Given the description of an element on the screen output the (x, y) to click on. 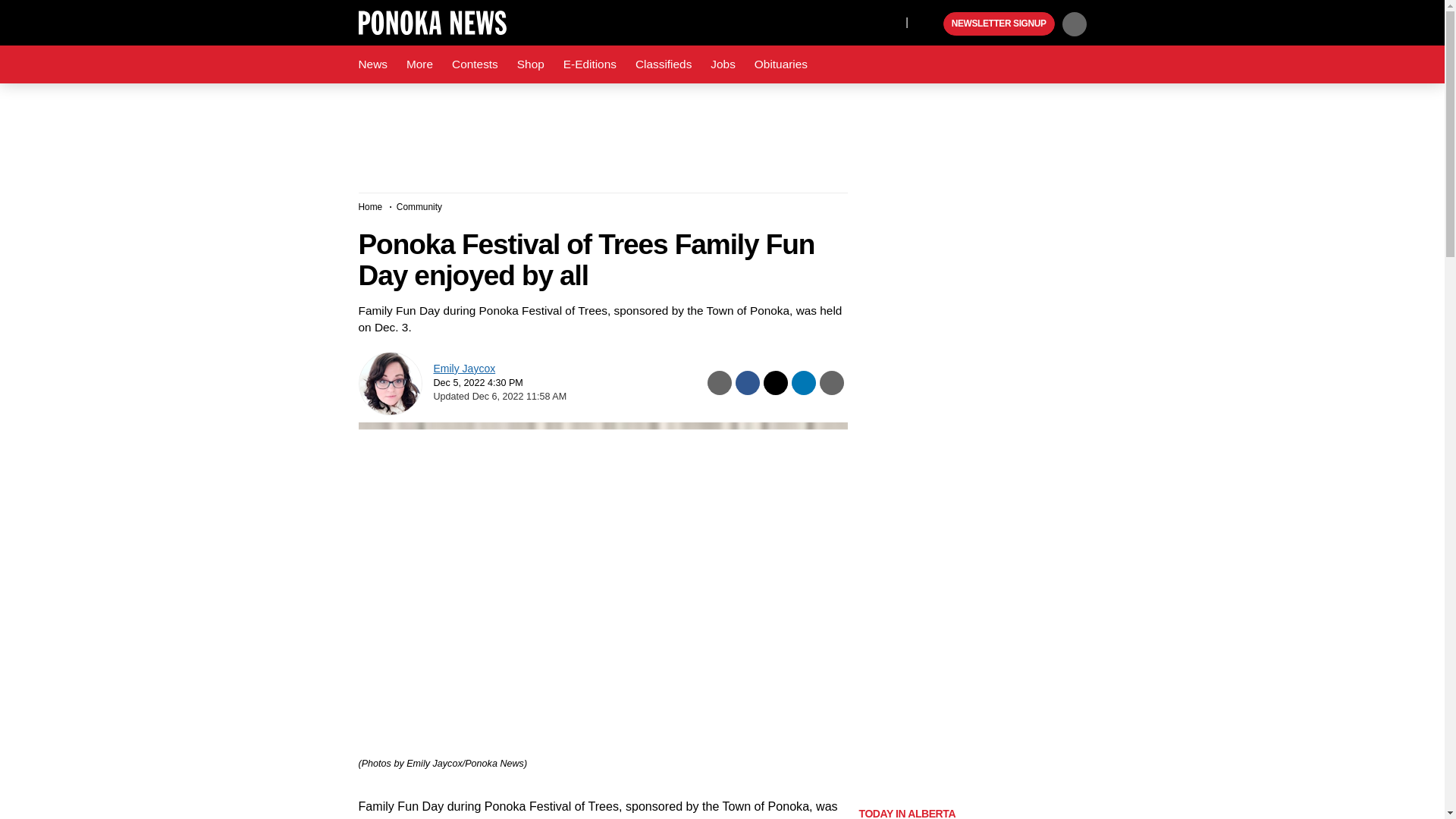
X (889, 21)
Black Press Media (929, 24)
NEWSLETTER SIGNUP (998, 24)
Play (929, 24)
News (372, 64)
